Given the description of an element on the screen output the (x, y) to click on. 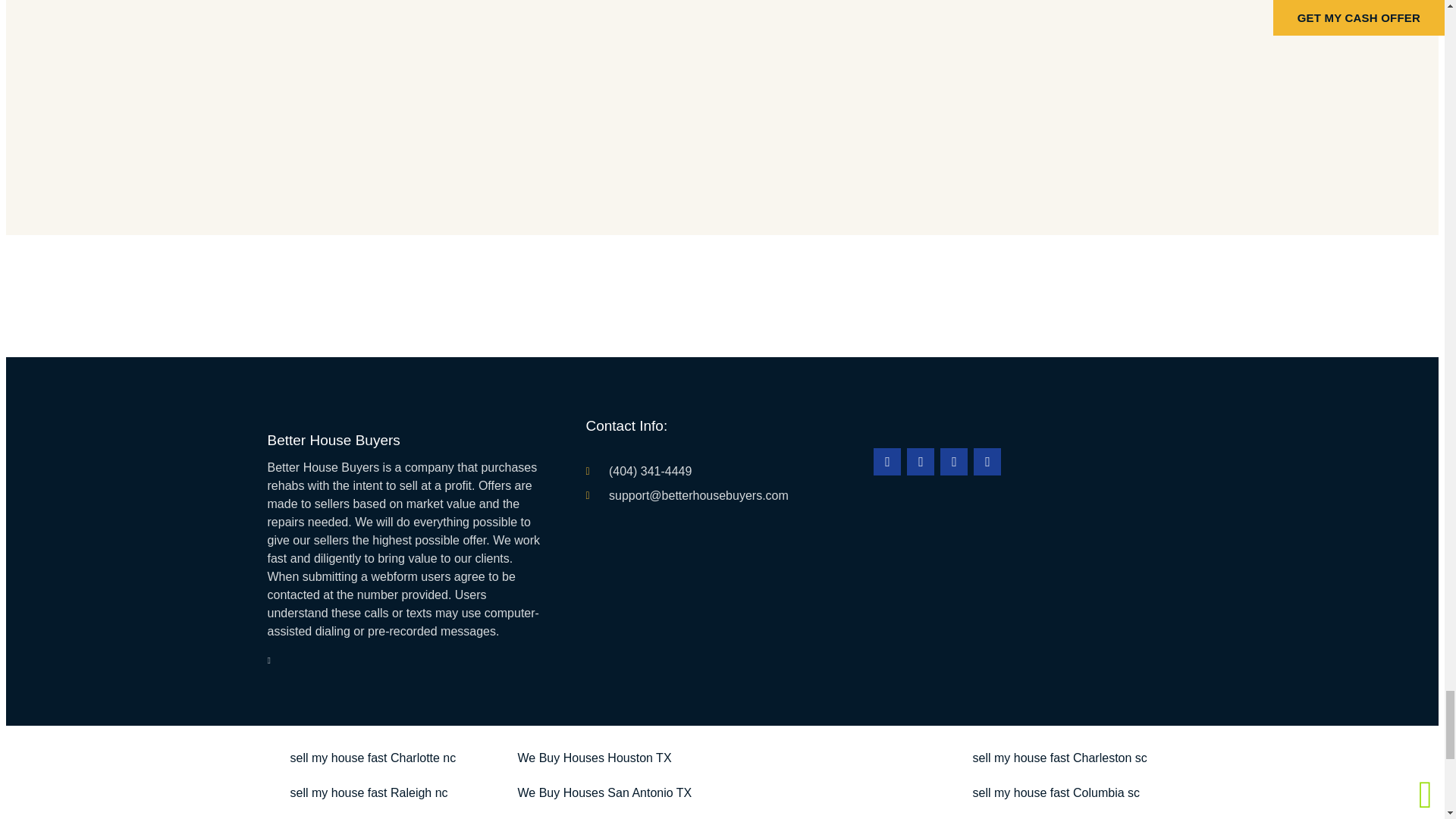
Better House Buyers (332, 439)
sell my house fast Raleigh nc (369, 792)
sell my house fast Charlotte nc (372, 758)
sell my house fast Greensboro nc (379, 814)
